Given the description of an element on the screen output the (x, y) to click on. 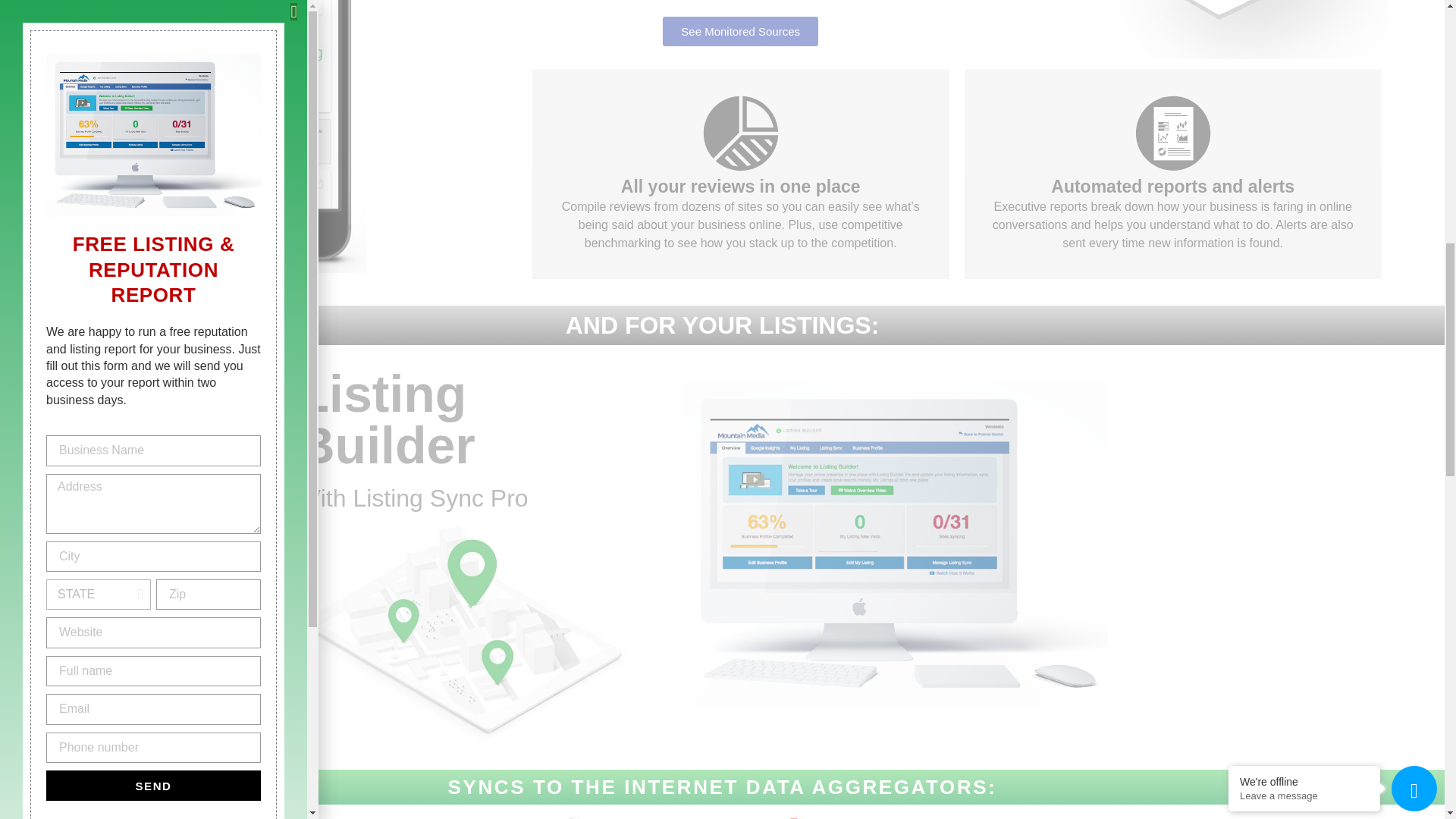
See Monitored Sources (740, 30)
